Given the description of an element on the screen output the (x, y) to click on. 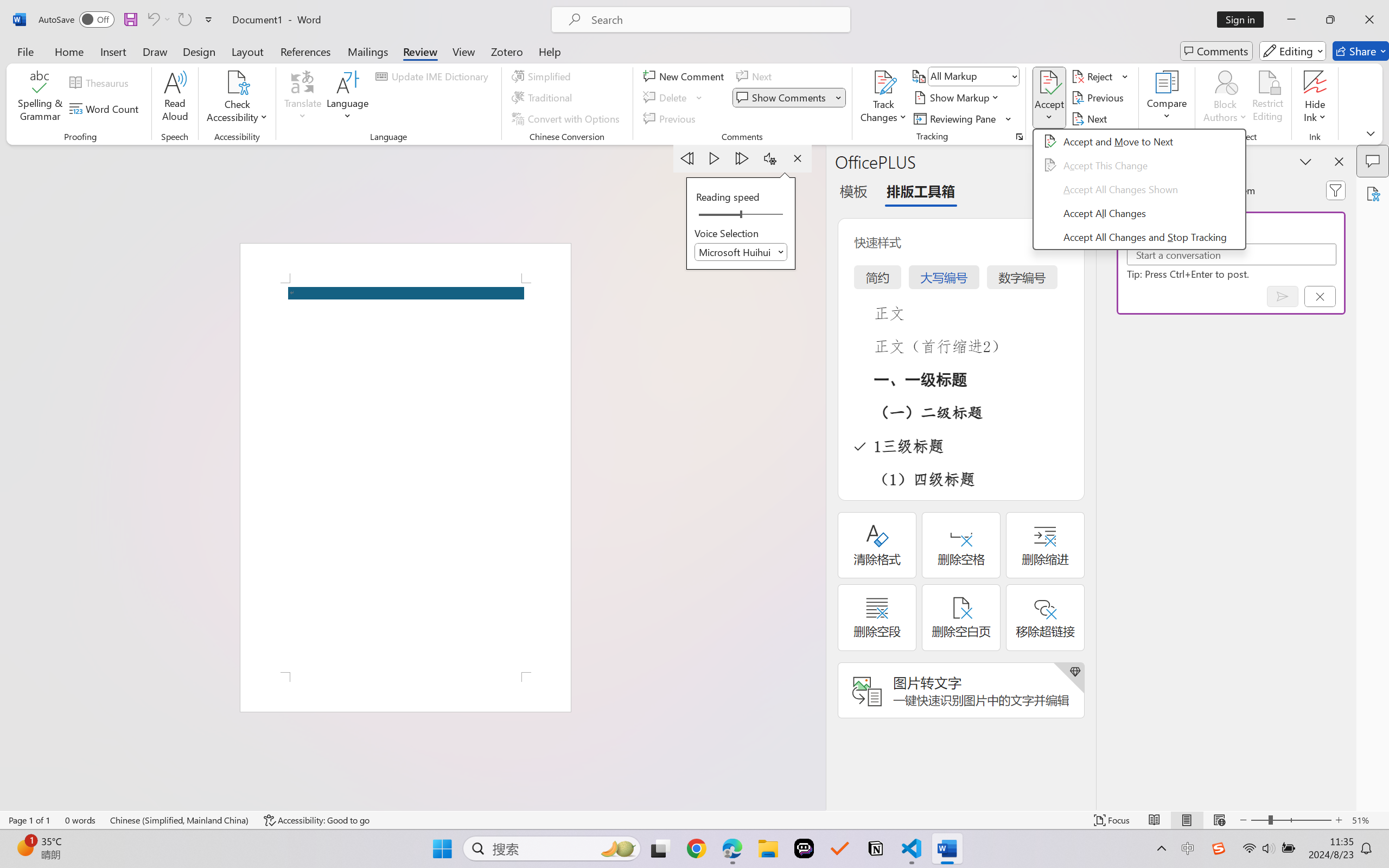
Show Comments (782, 97)
&Accept (1138, 188)
Translate (303, 97)
Reject (1100, 75)
Undo Apply Quick Style Set (152, 19)
Track Changes (883, 81)
Restrict Editing (1267, 97)
Voice Selection (740, 252)
